Given the description of an element on the screen output the (x, y) to click on. 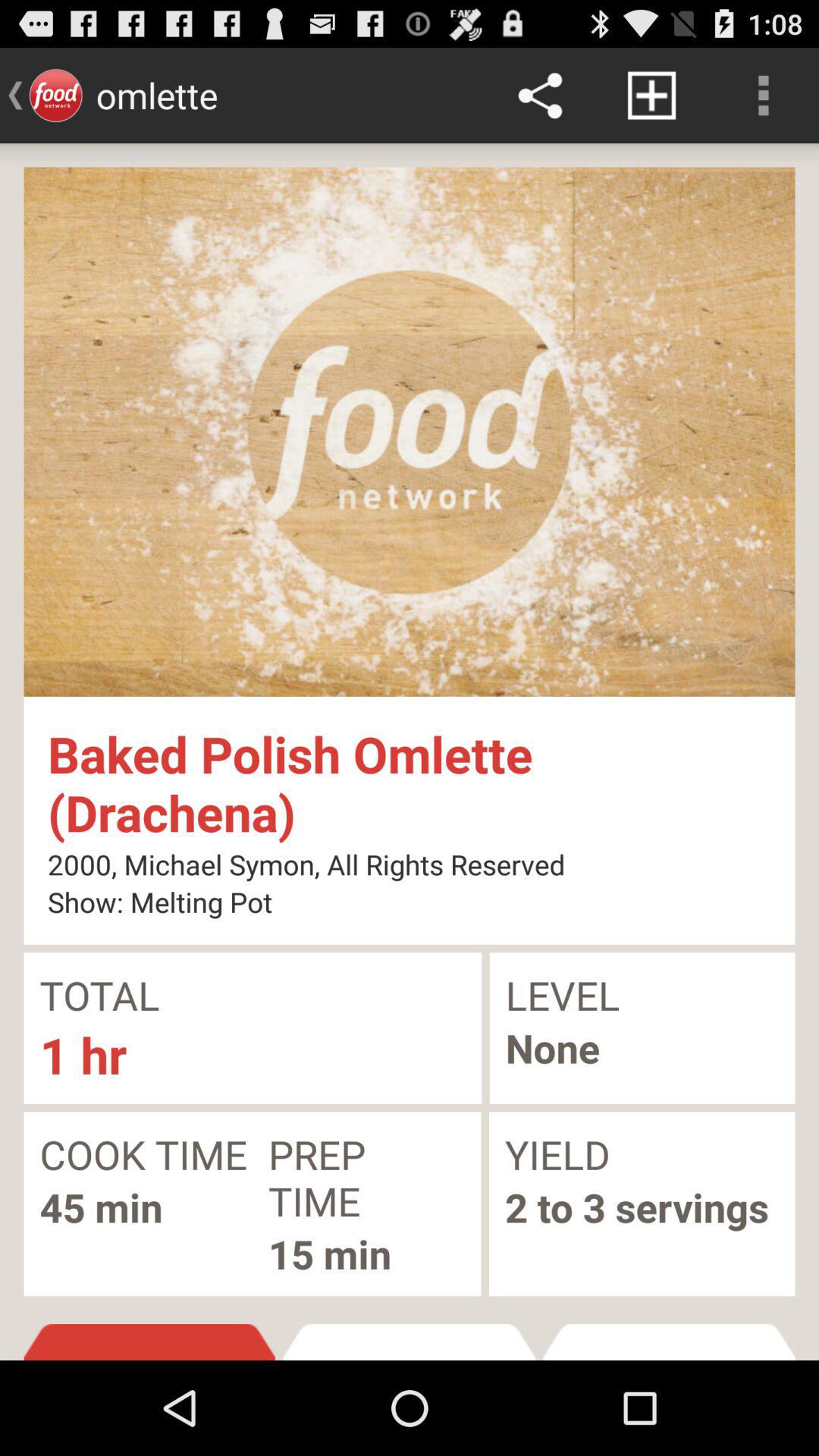
scroll until the notes icon (669, 1342)
